Given the description of an element on the screen output the (x, y) to click on. 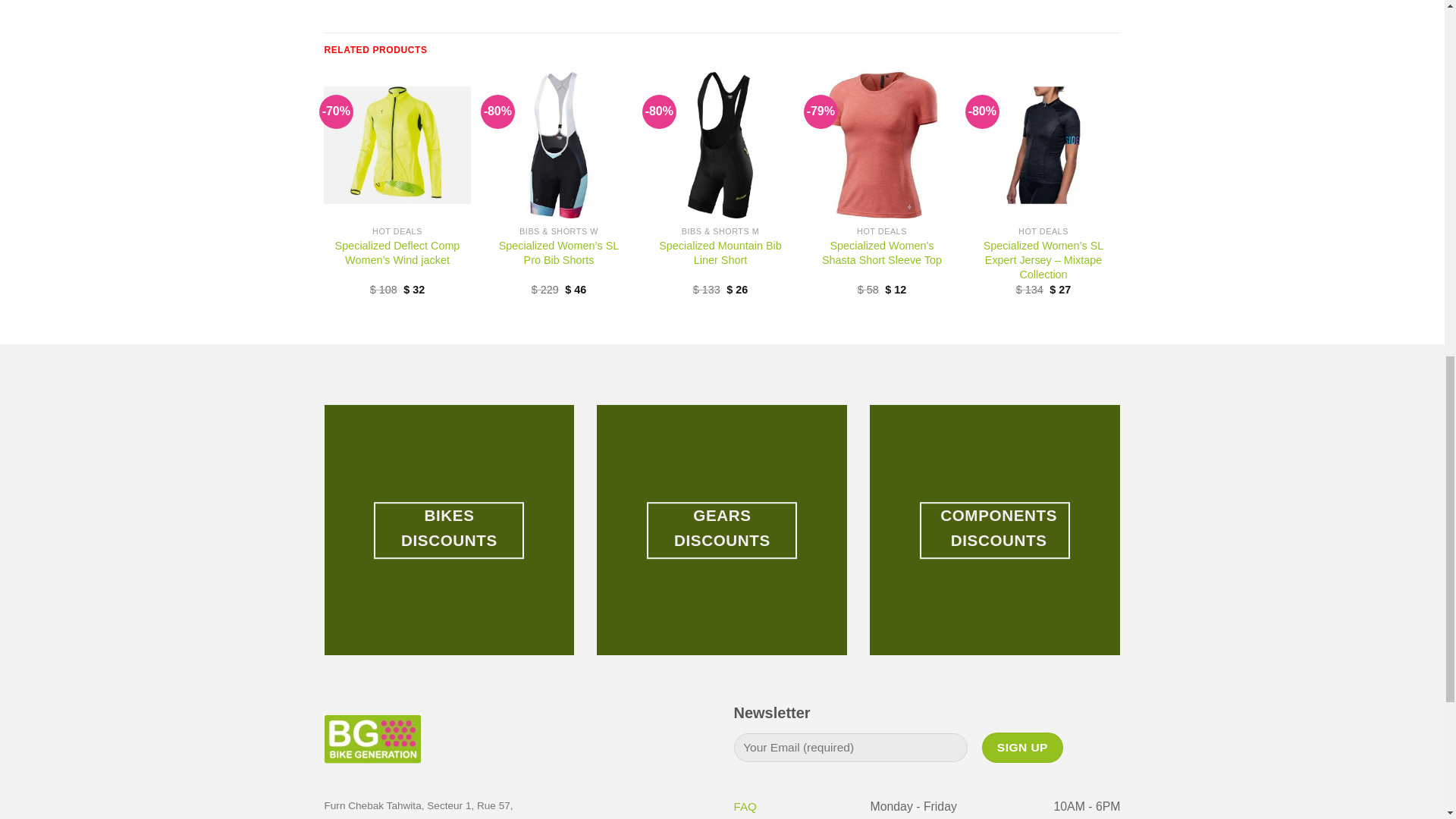
Sign Up (1021, 747)
